Given the description of an element on the screen output the (x, y) to click on. 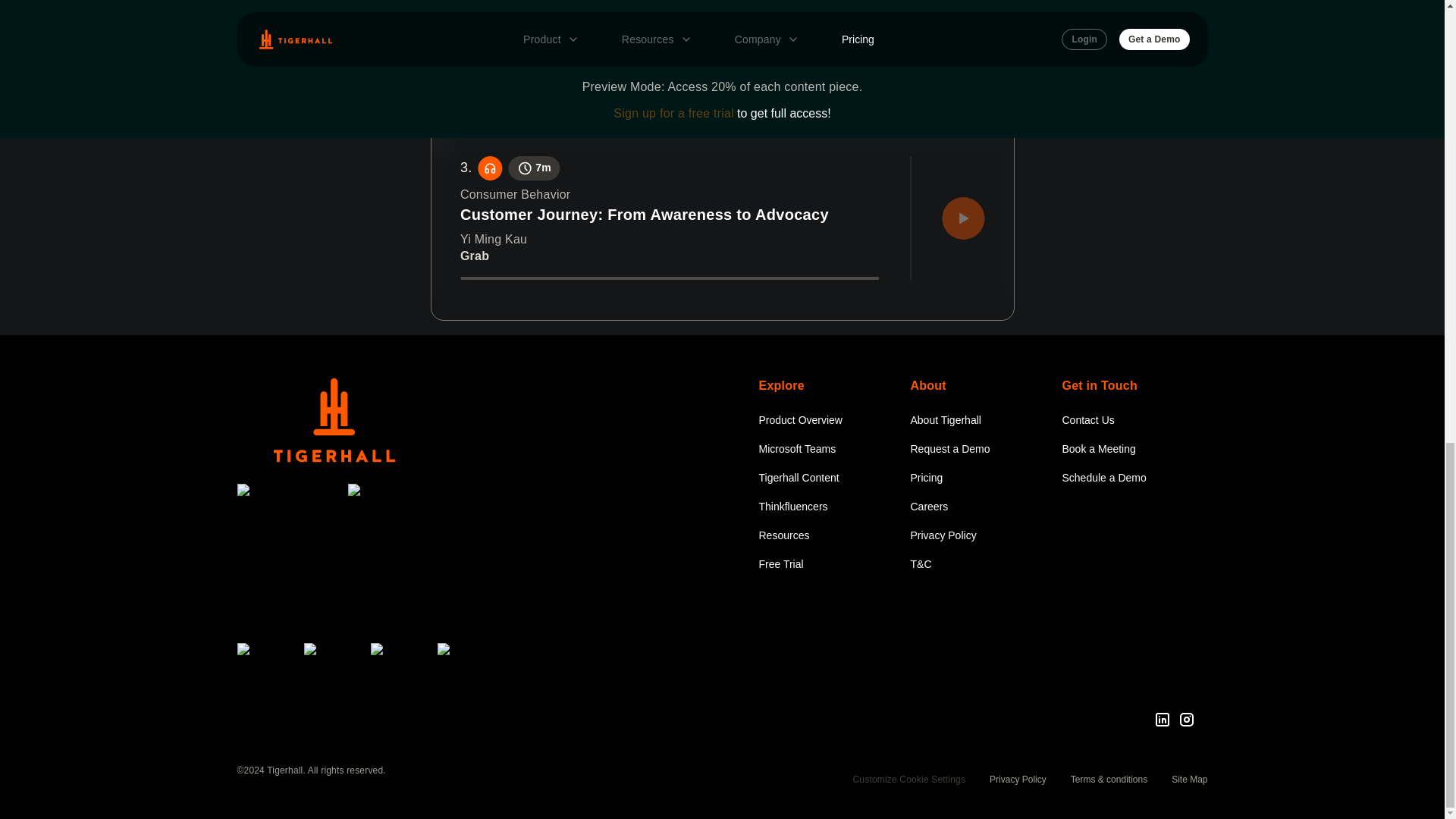
Where Customer Experience Meets Design (669, 45)
Customer Journey: From Awareness to Advocacy (669, 215)
